Given the description of an element on the screen output the (x, y) to click on. 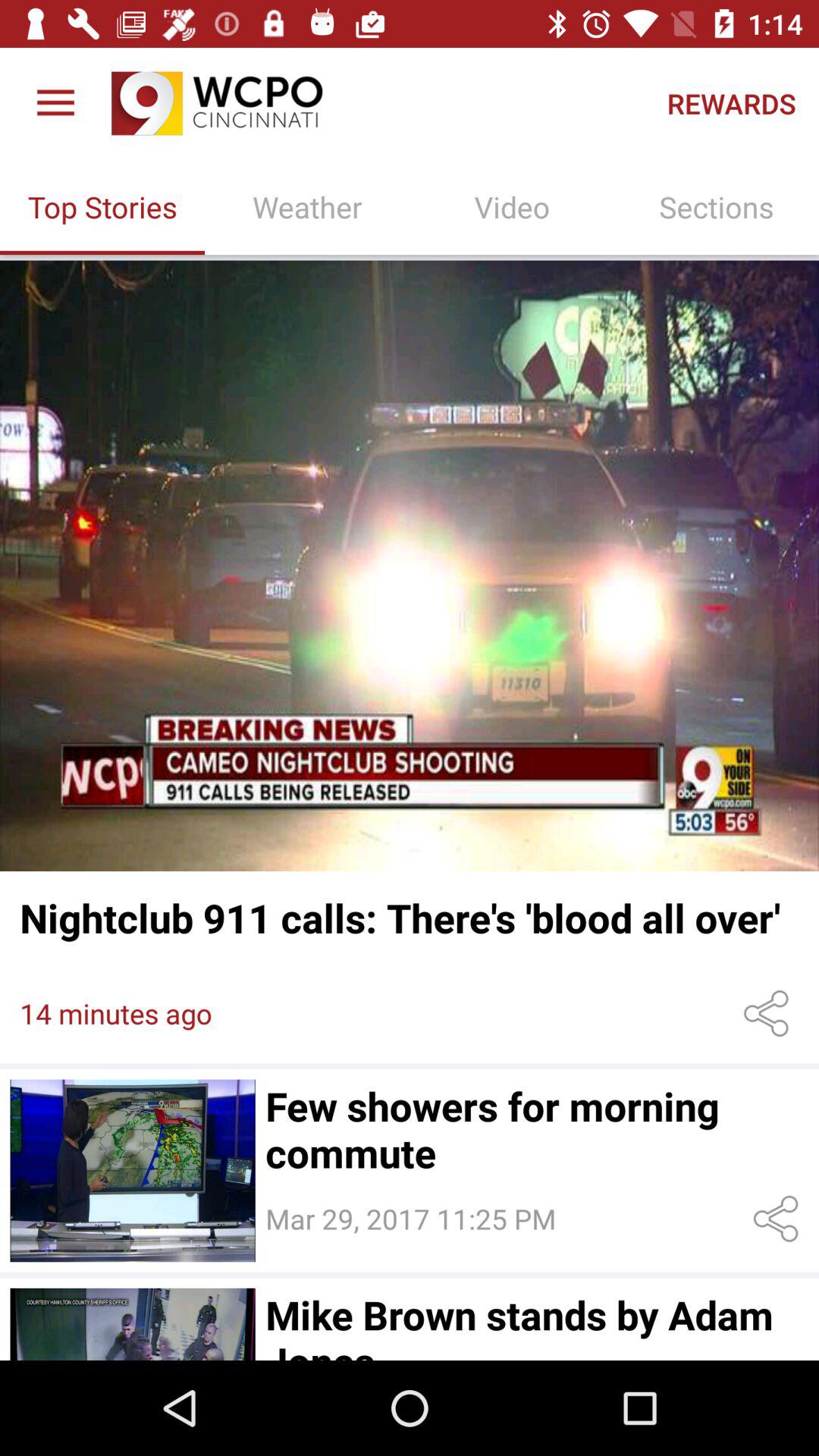
turn on the item above the top stories item (55, 103)
